Given the description of an element on the screen output the (x, y) to click on. 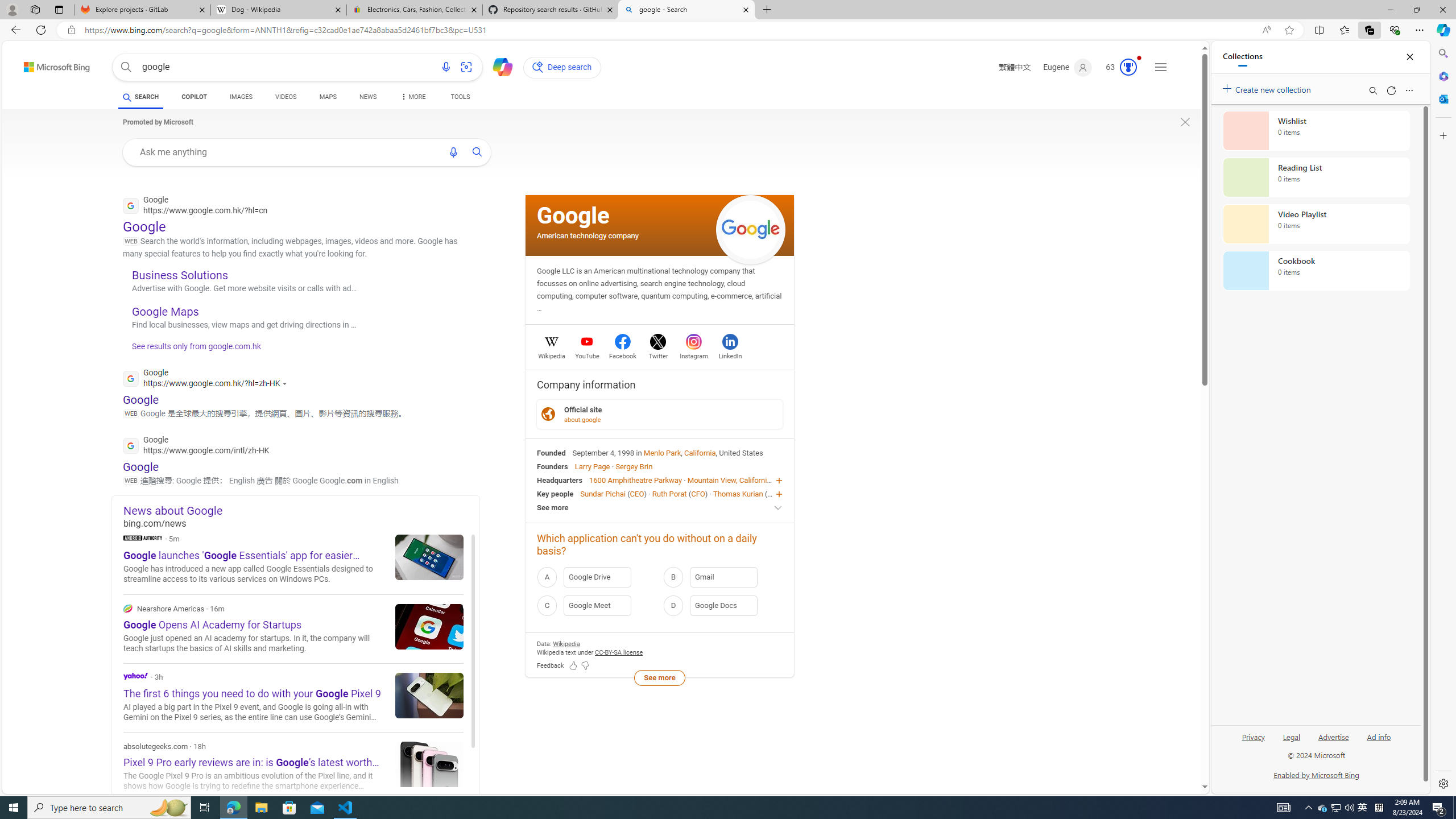
Class: sp-ofsite (547, 414)
Microsoft Rewards 54 (1118, 67)
The first 6 things you need to do with your Google Pixel 9 (428, 695)
Customize (1442, 135)
Feedback Dislike (584, 665)
See more images of Google (751, 229)
Address and search bar (669, 29)
Cookbook collection, 0 items (1316, 270)
Business Solutions (180, 274)
NEWS (367, 96)
Ask me anything (285, 151)
Official Site Official site about.google (659, 413)
